Given the description of an element on the screen output the (x, y) to click on. 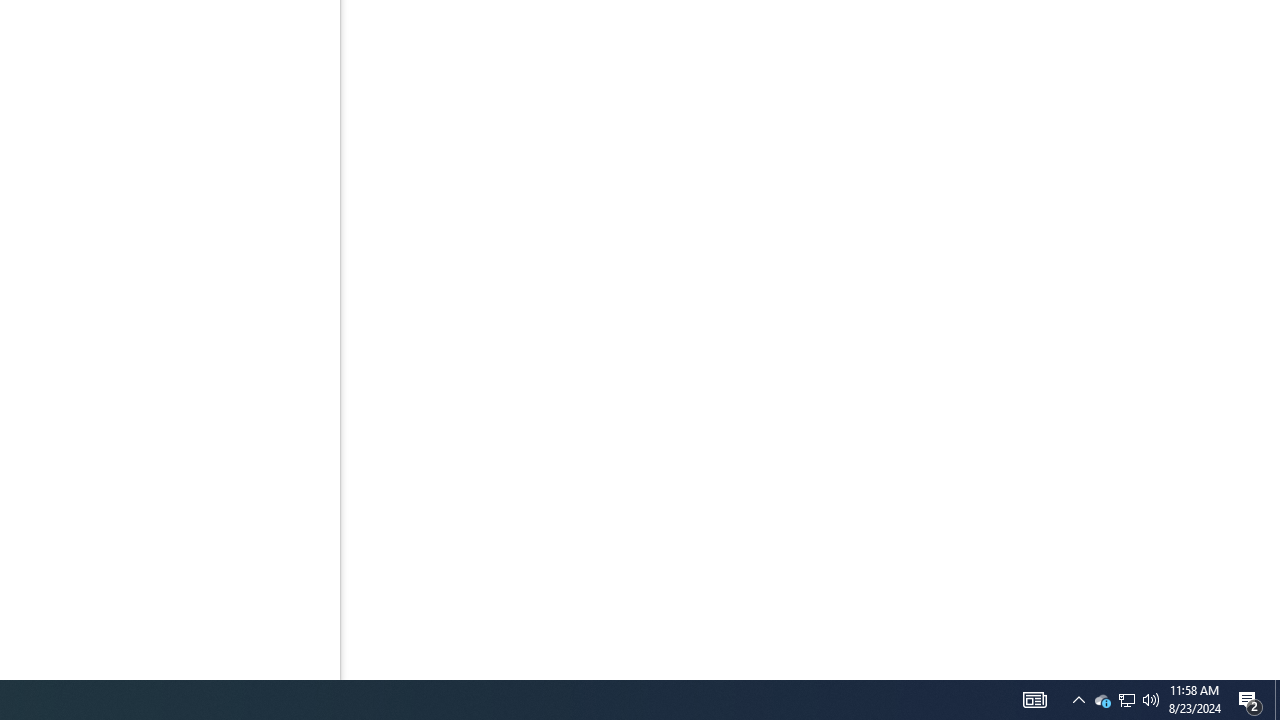
Q2790: 100% (1151, 699)
User Promoted Notification Area (1126, 699)
Action Center, 2 new notifications (1250, 699)
Show desktop (1277, 699)
AutomationID: 4105 (1034, 699)
Notification Chevron (1078, 699)
